Given the description of an element on the screen output the (x, y) to click on. 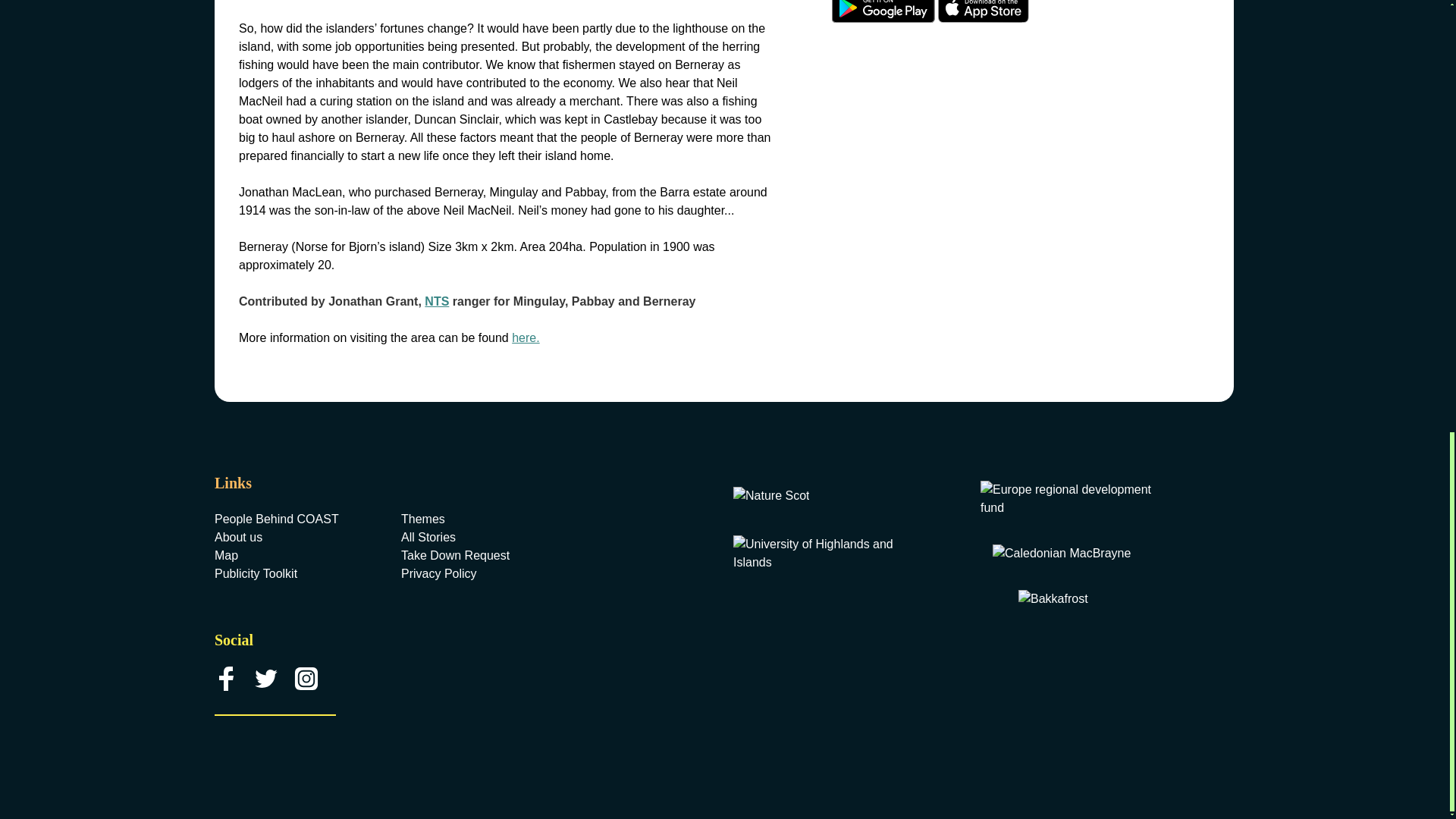
Themes (485, 519)
All Stories (485, 537)
NTS (436, 300)
People Behind COAST (298, 519)
Privacy Policy (485, 574)
Publicity Toolkit (298, 574)
Take Down Request (485, 556)
here. (525, 337)
Map (298, 556)
About us (298, 537)
